Given the description of an element on the screen output the (x, y) to click on. 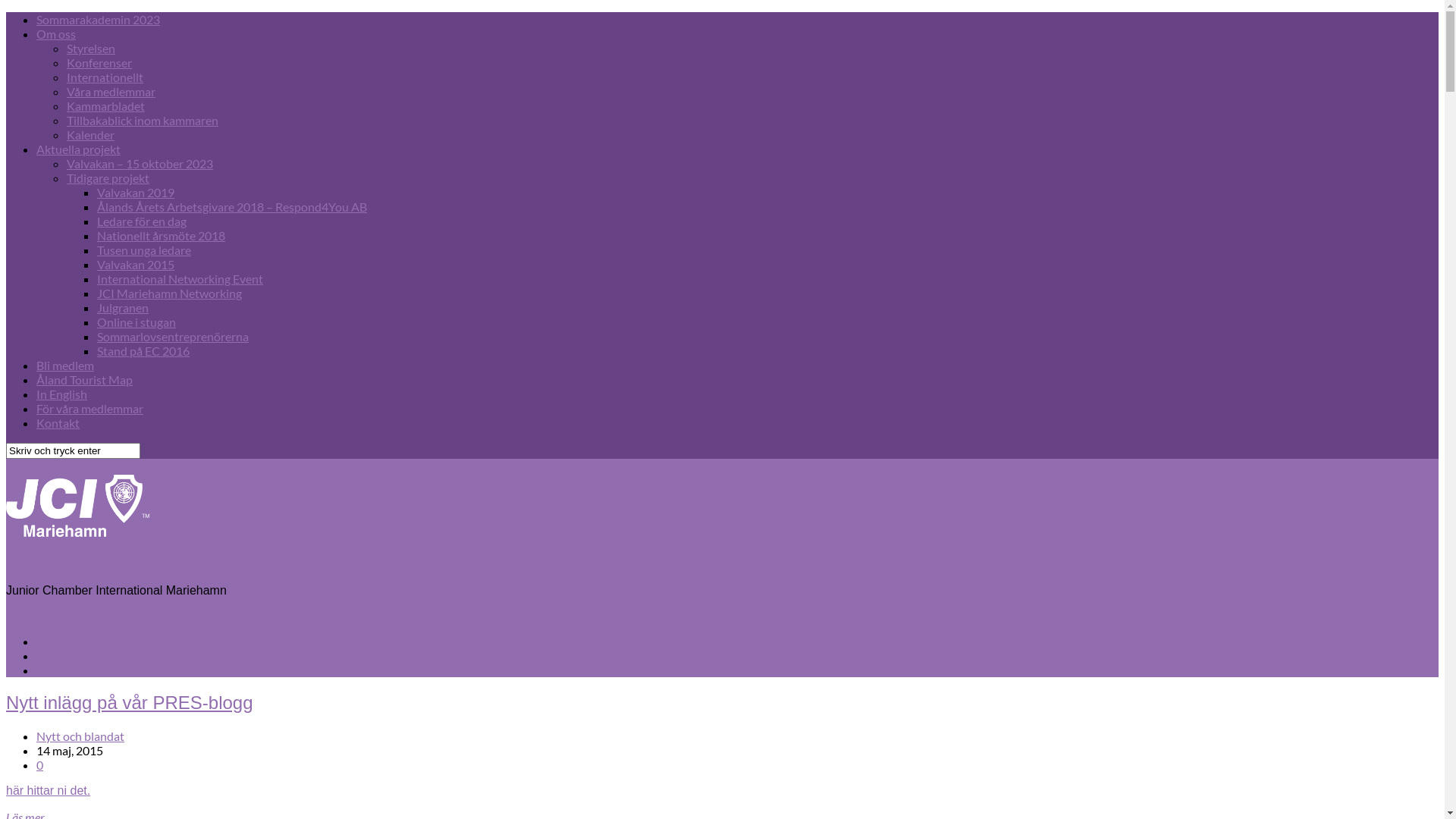
Bli medlem Element type: text (65, 364)
Aktuella projekt Element type: text (78, 148)
Tusen unga ledare Element type: text (144, 249)
Sommarakademin 2023 Element type: text (98, 19)
Nytt och blandat Element type: text (80, 735)
Internationellt Element type: text (104, 76)
Om oss Element type: text (55, 33)
0 Element type: text (39, 764)
Styrelsen Element type: text (90, 47)
Julgranen Element type: text (122, 307)
Konferenser Element type: text (98, 62)
In English Element type: text (61, 393)
Kontakt Element type: text (57, 422)
Online i stugan Element type: text (136, 321)
Tillbakablick inom kammaren Element type: text (142, 119)
International Networking Event Element type: text (180, 278)
Kalender Element type: text (90, 134)
Tidigare projekt Element type: text (107, 177)
Kammarbladet Element type: text (105, 105)
JCI Mariehamn Networking Element type: text (169, 292)
Valvakan 2015 Element type: text (135, 264)
Valvakan 2019 Element type: text (135, 192)
